Given the description of an element on the screen output the (x, y) to click on. 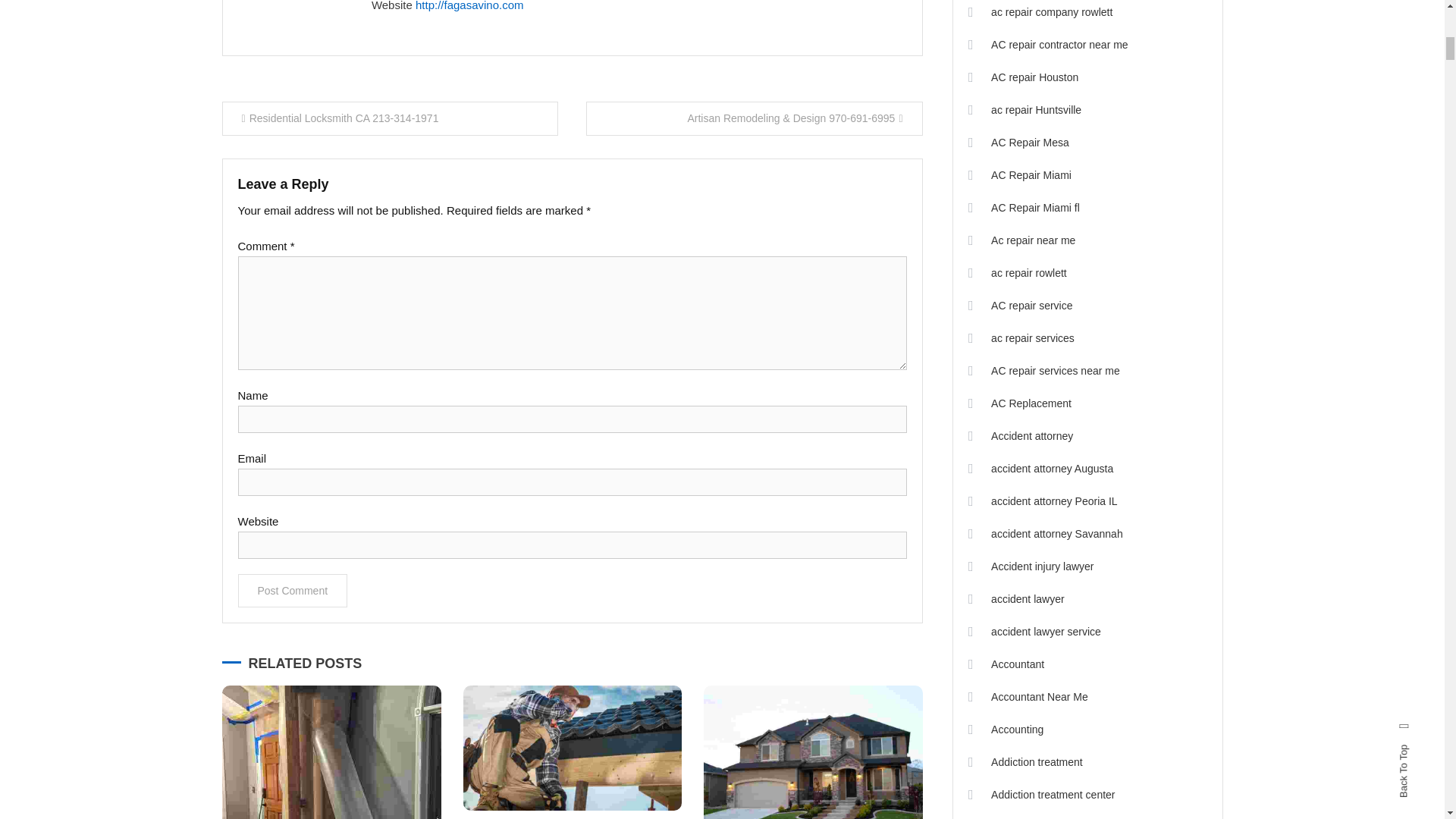
Post Comment (292, 590)
